Given the description of an element on the screen output the (x, y) to click on. 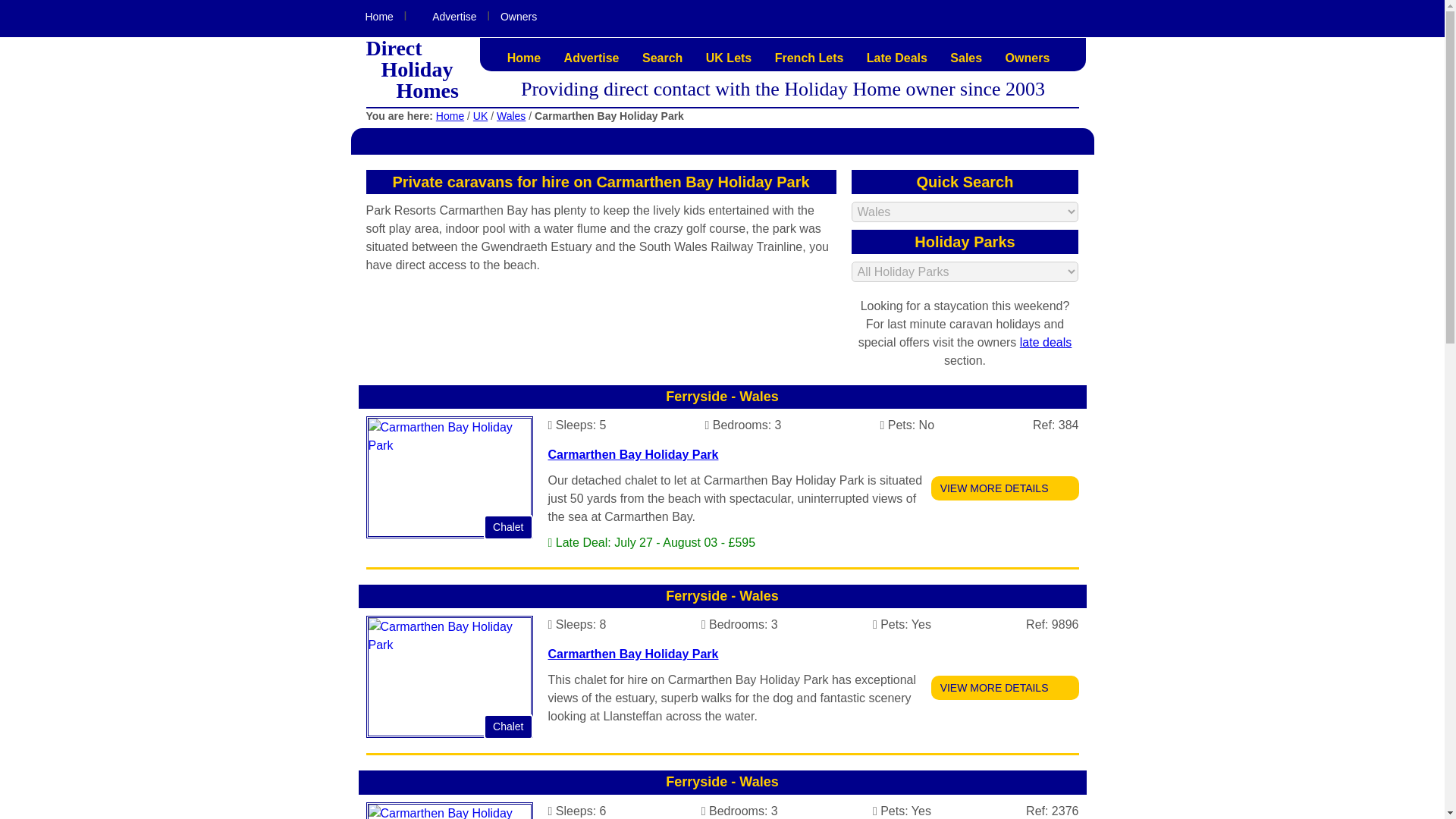
Advertise (446, 16)
Search (662, 58)
Late Deals (897, 58)
late deals (1045, 341)
UK (480, 115)
Home (379, 16)
VIEW MORE DETAILS (1004, 487)
French Lets (809, 58)
Advertise (591, 58)
Home (524, 58)
Visit us on Facebook (1057, 17)
Owners (1027, 58)
Wales (510, 115)
VIEW MORE DETAILS (1004, 687)
Carmarthen Bay Holiday Park (632, 653)
